Given the description of an element on the screen output the (x, y) to click on. 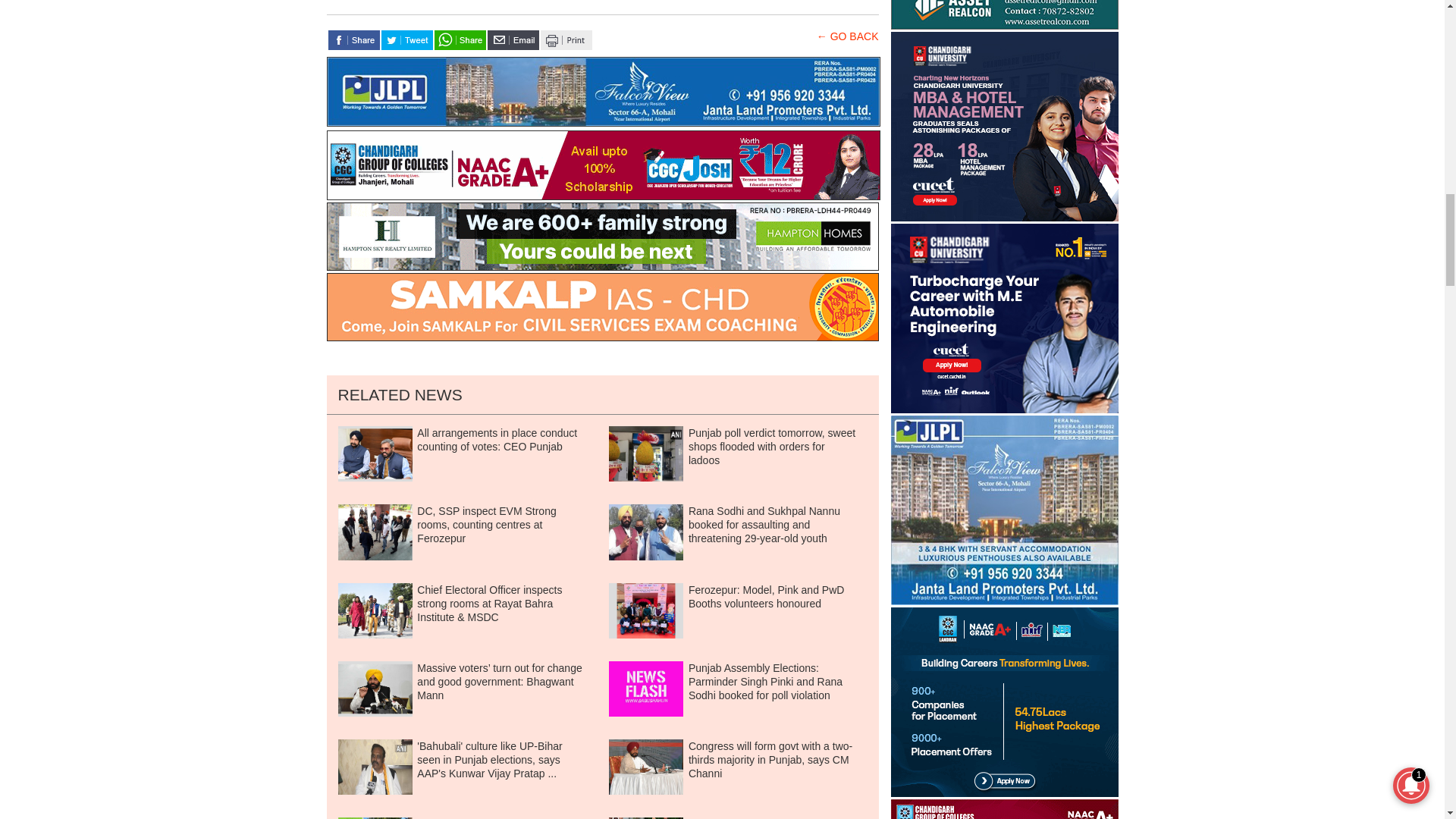
Ferozepur:  Model, Pink and PwD Booths volunteers honoured (645, 610)
